Given the description of an element on the screen output the (x, y) to click on. 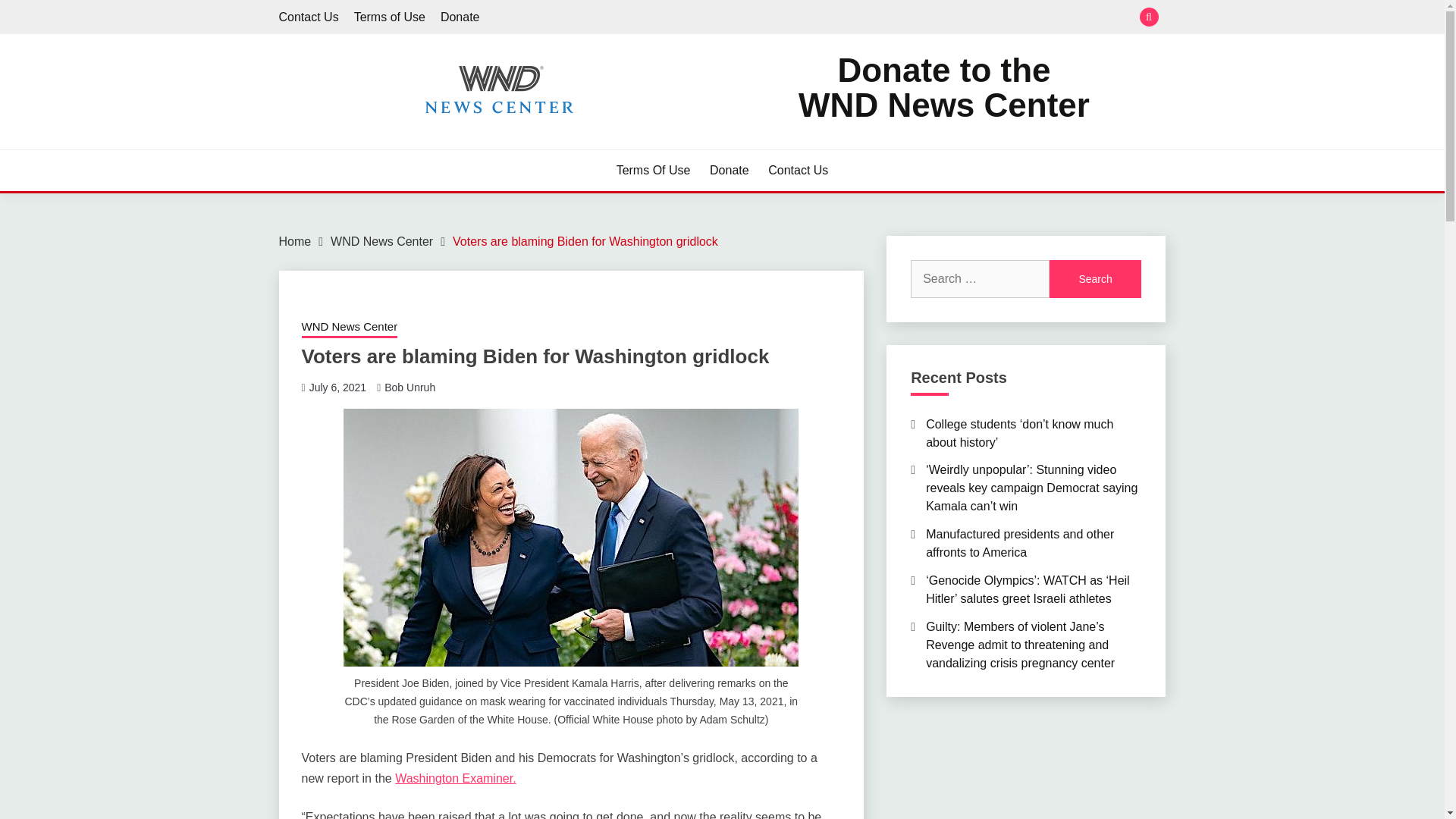
Contact Us (798, 170)
Search (1095, 279)
Search (1095, 279)
Donate (729, 170)
Washington Examiner. (454, 778)
WND News Center (381, 241)
Home (295, 241)
Search (1095, 279)
Terms of Use (389, 16)
WND NEWS CENTER (419, 142)
July 6, 2021 (943, 87)
Terms Of Use (337, 387)
Contact Us (652, 170)
WND News Center (309, 16)
